Given the description of an element on the screen output the (x, y) to click on. 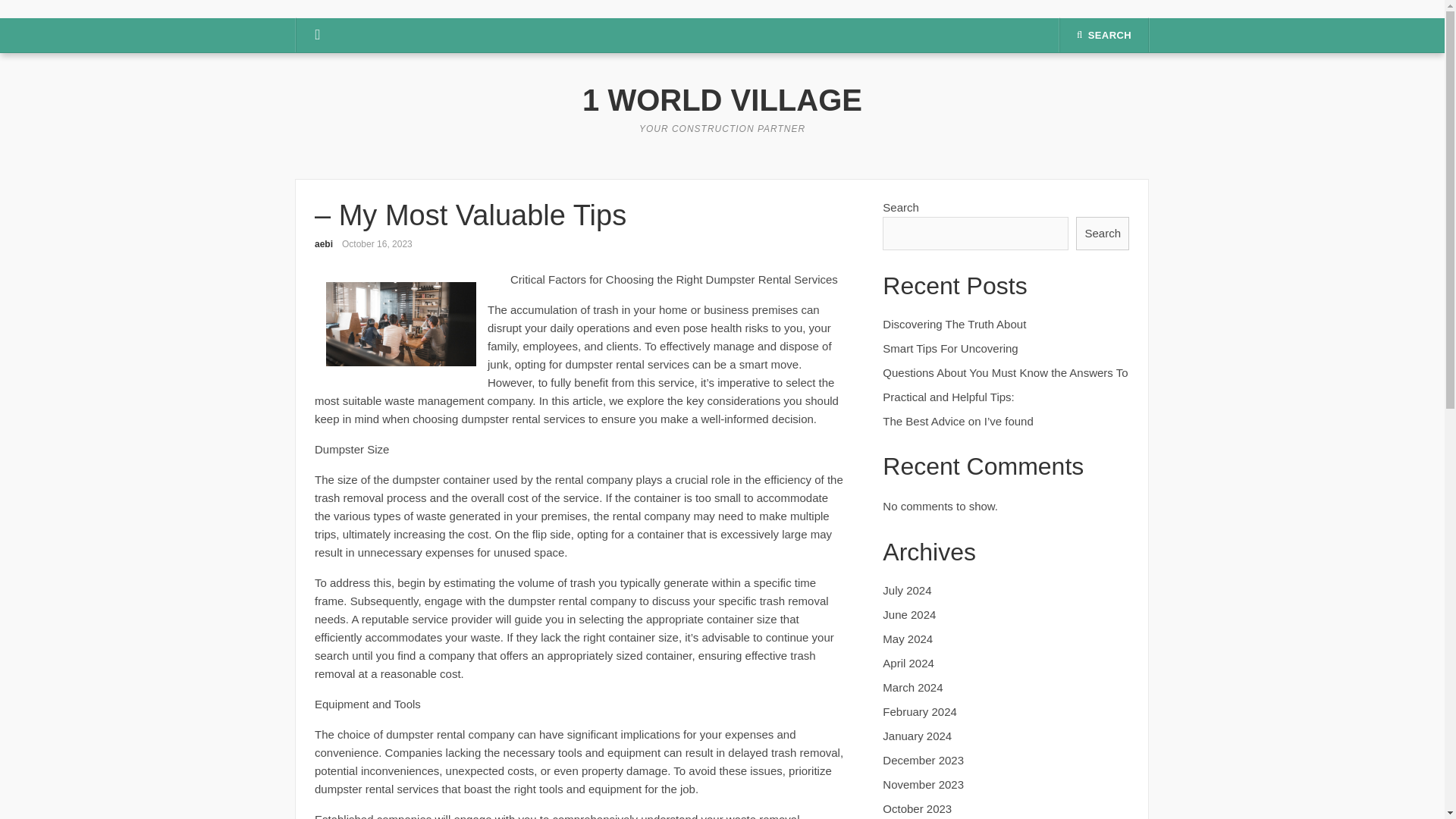
April 2024 (908, 662)
May 2024 (907, 638)
Smart Tips For Uncovering (949, 348)
November 2023 (922, 784)
Practical and Helpful Tips: (947, 396)
SEARCH (1104, 34)
December 2023 (922, 759)
October 2023 (917, 808)
March 2024 (912, 686)
July 2024 (906, 590)
